Given the description of an element on the screen output the (x, y) to click on. 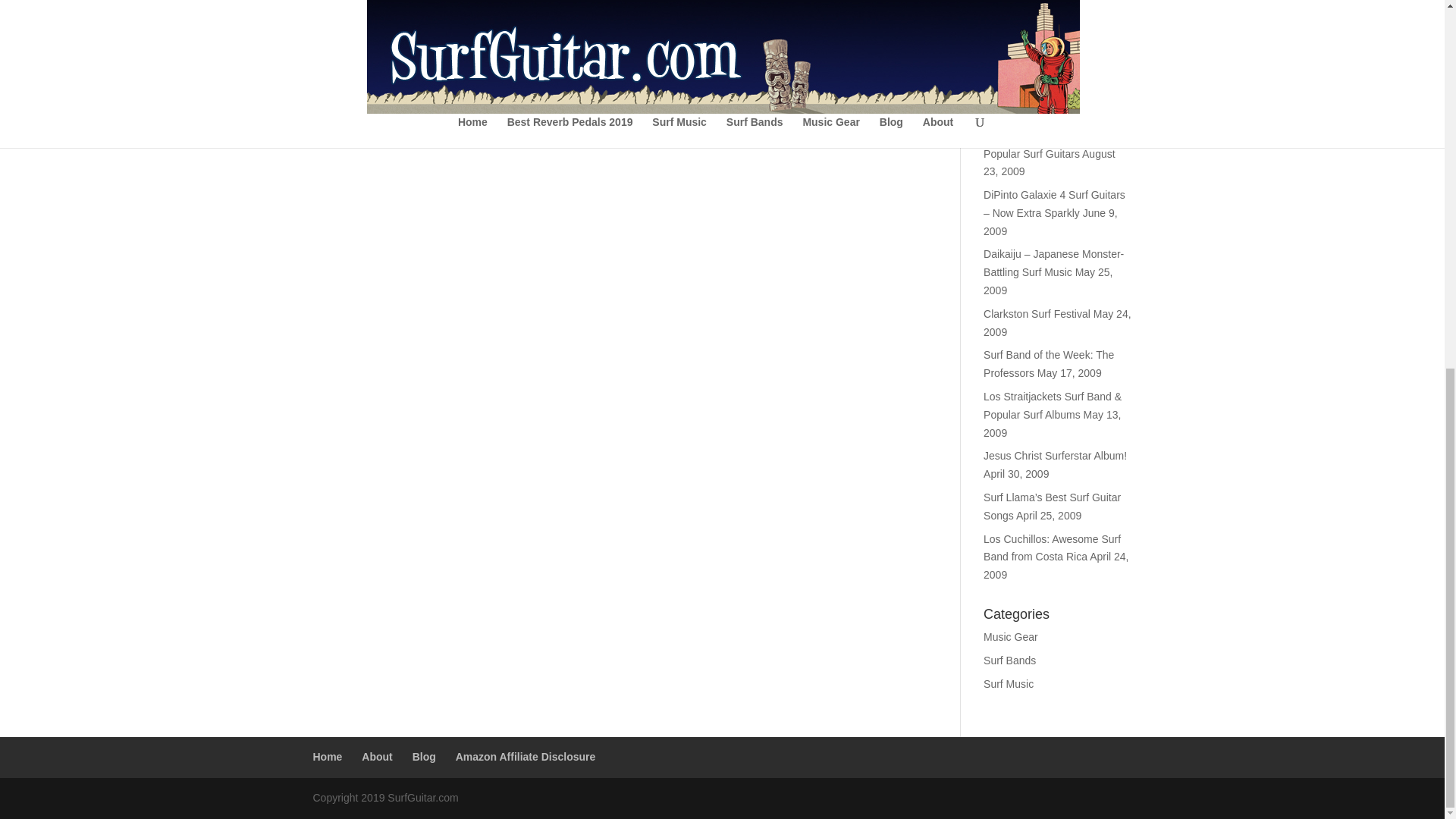
Music Gear (1011, 636)
Blog (423, 756)
Jesus Christ Surferstar Album! (1055, 455)
Los Cuchillos: Awesome Surf Band from Costa Rica (1052, 548)
Home (327, 756)
Surf Music (1008, 684)
Surf Bands (1009, 660)
Amazon Affiliate Disclosure (525, 756)
Dick Dale Tour Dates (1033, 70)
Clarkston Surf Festival (1037, 313)
Popular Surf Guitars (1032, 152)
Surf Band of the Week: The Professors (1048, 363)
About (376, 756)
